Given the description of an element on the screen output the (x, y) to click on. 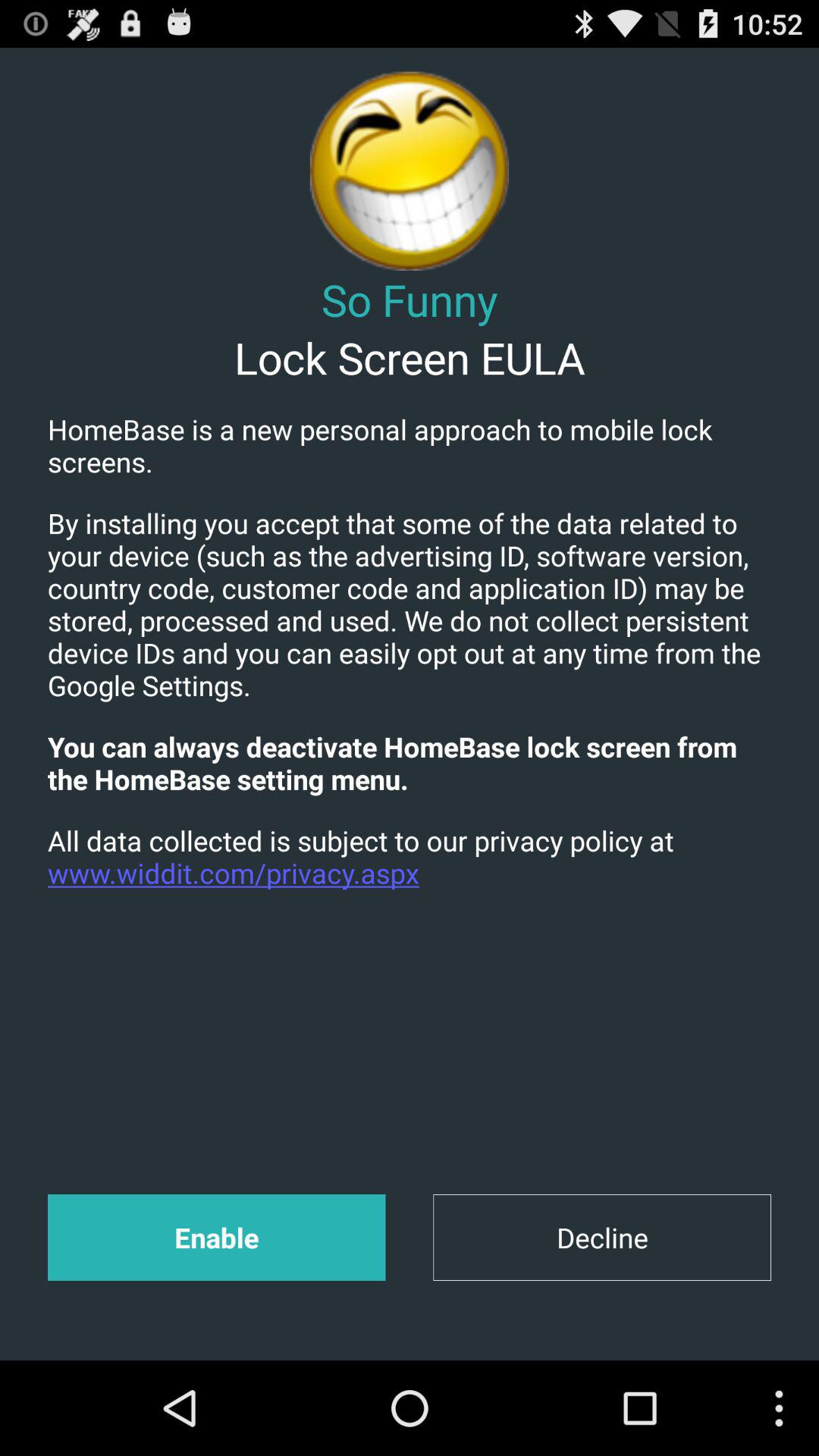
turn off item at the bottom left corner (216, 1237)
